Given the description of an element on the screen output the (x, y) to click on. 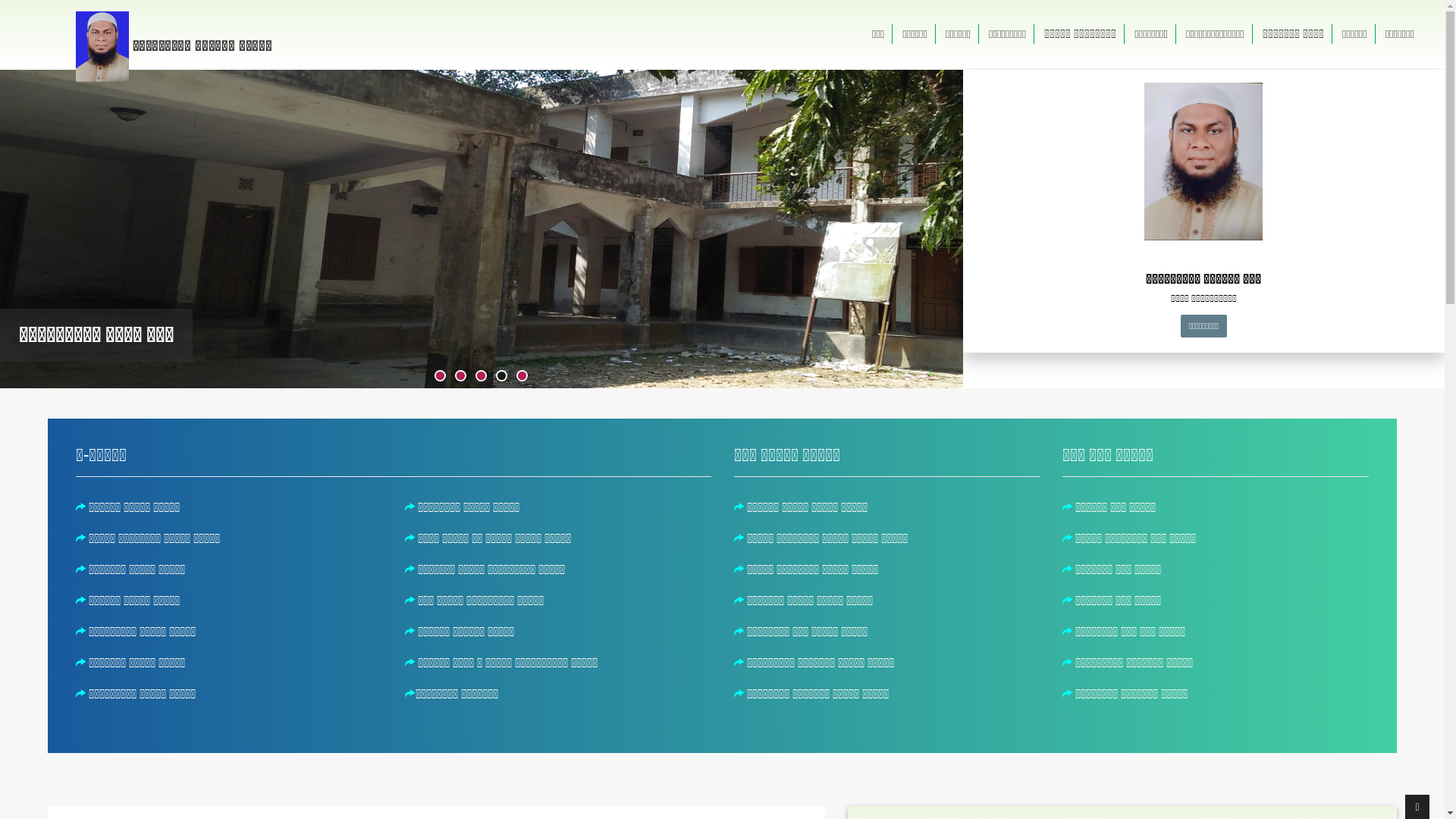
1 Element type: text (440, 375)
5 Element type: text (521, 375)
3 Element type: text (480, 375)
2 Element type: text (460, 375)
4 Element type: text (501, 375)
